Given the description of an element on the screen output the (x, y) to click on. 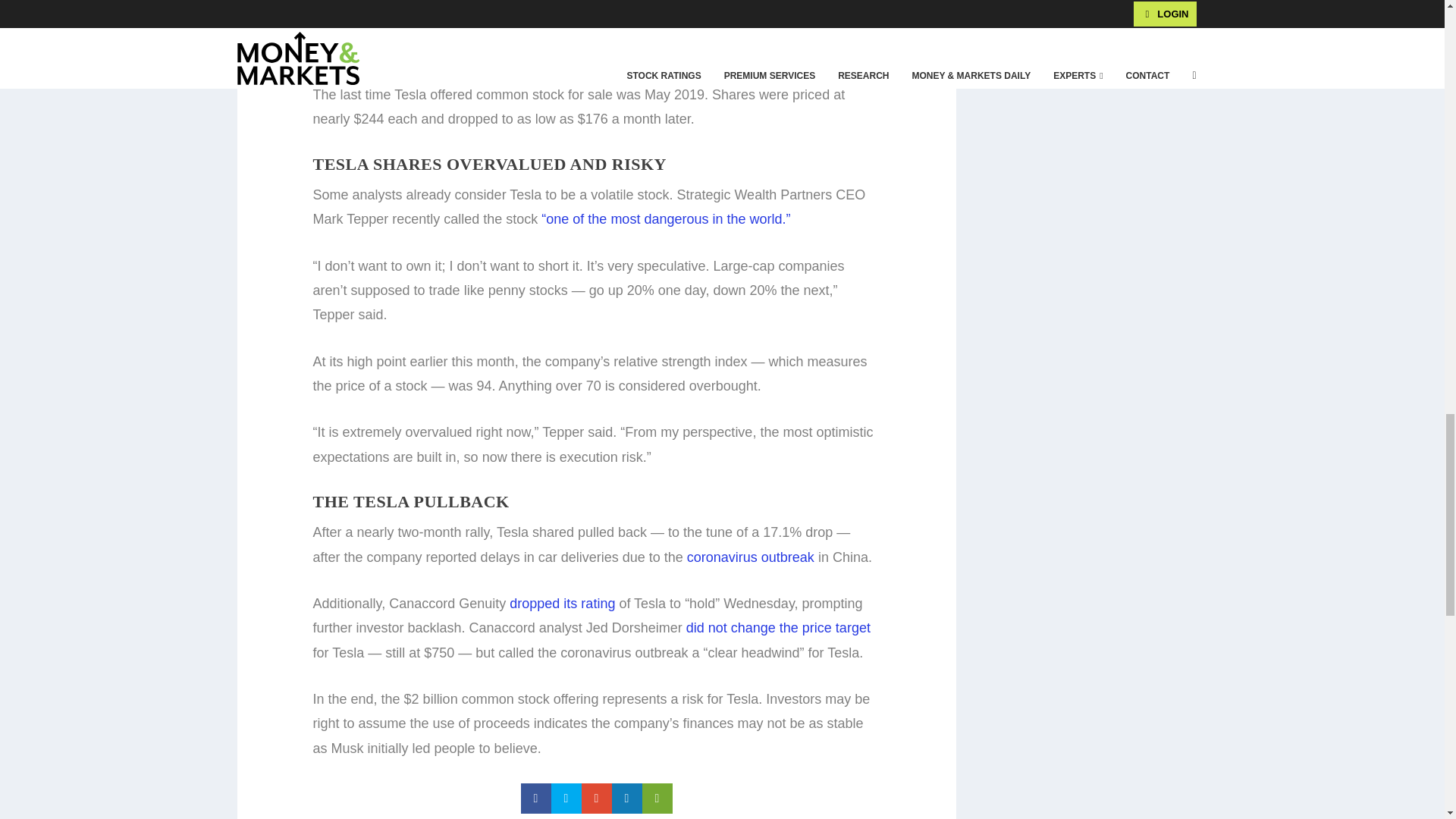
coronavirus outbreak (750, 557)
dropped its rating  (563, 603)
did not change the price target (777, 627)
